Given the description of an element on the screen output the (x, y) to click on. 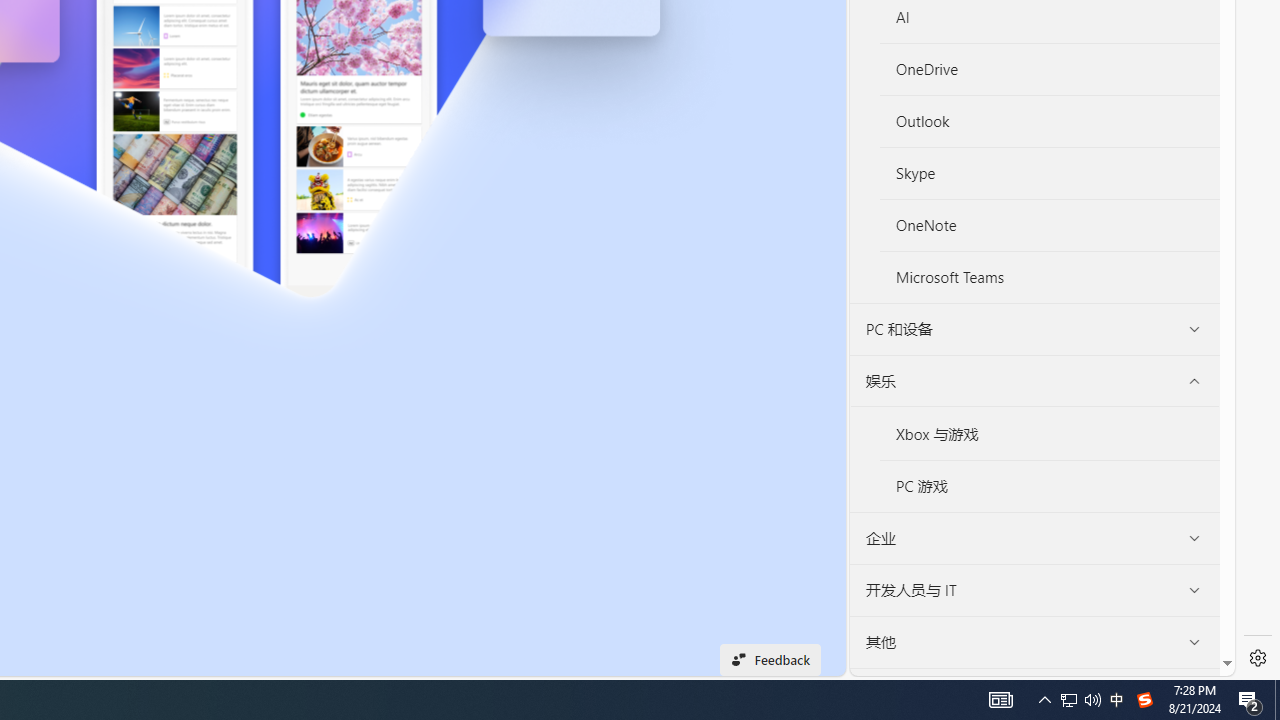
Skype (1049, 173)
Microsoft Teams (1049, 276)
Skype (1049, 174)
